Given the description of an element on the screen output the (x, y) to click on. 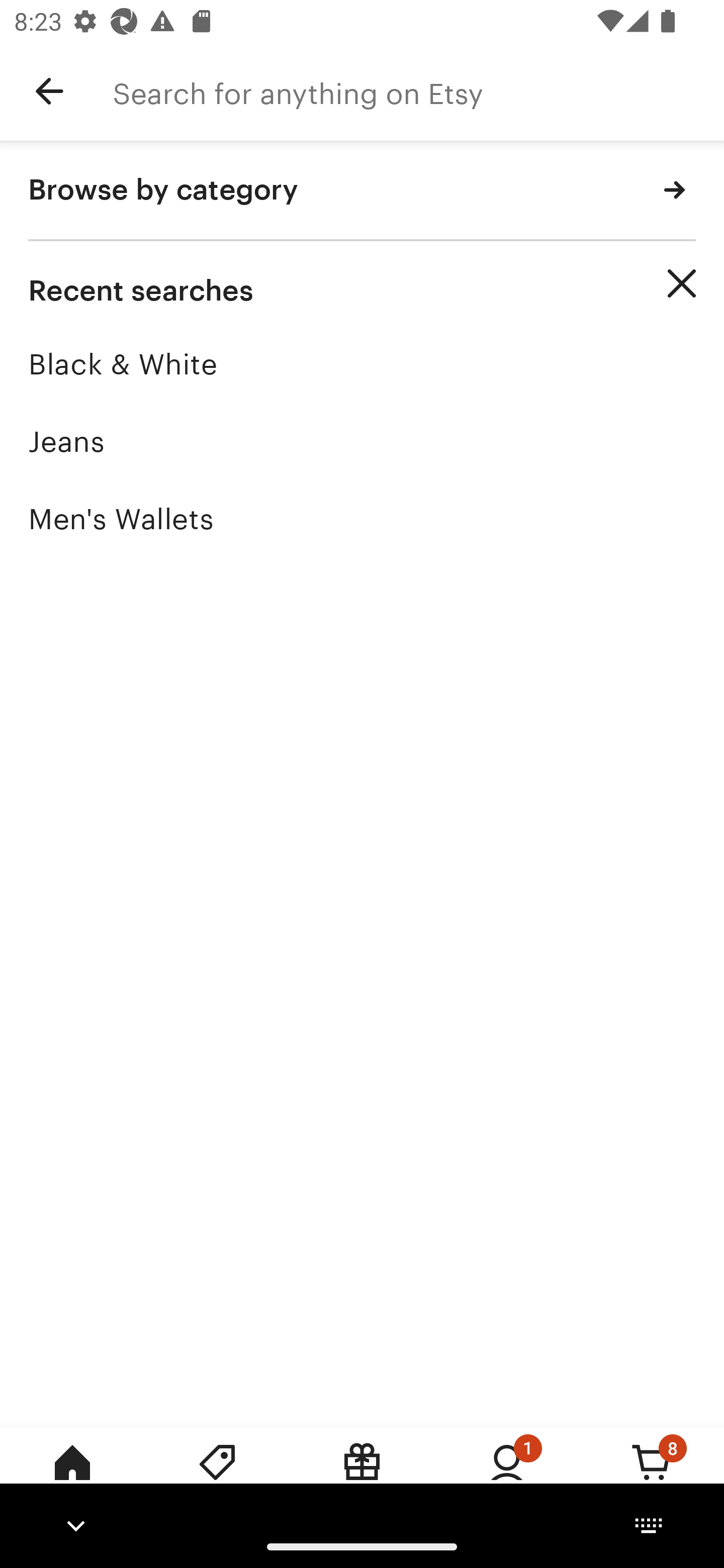
Navigate up (49, 91)
Search for anything on Etsy (418, 91)
Browse by category (362, 191)
Clear (681, 283)
Black & White (362, 364)
Jeans (362, 440)
Men's Wallets (362, 518)
Deals (216, 1475)
Gift Mode (361, 1475)
You, 1 new notification (506, 1475)
Cart, 8 new notifications (651, 1475)
